Given the description of an element on the screen output the (x, y) to click on. 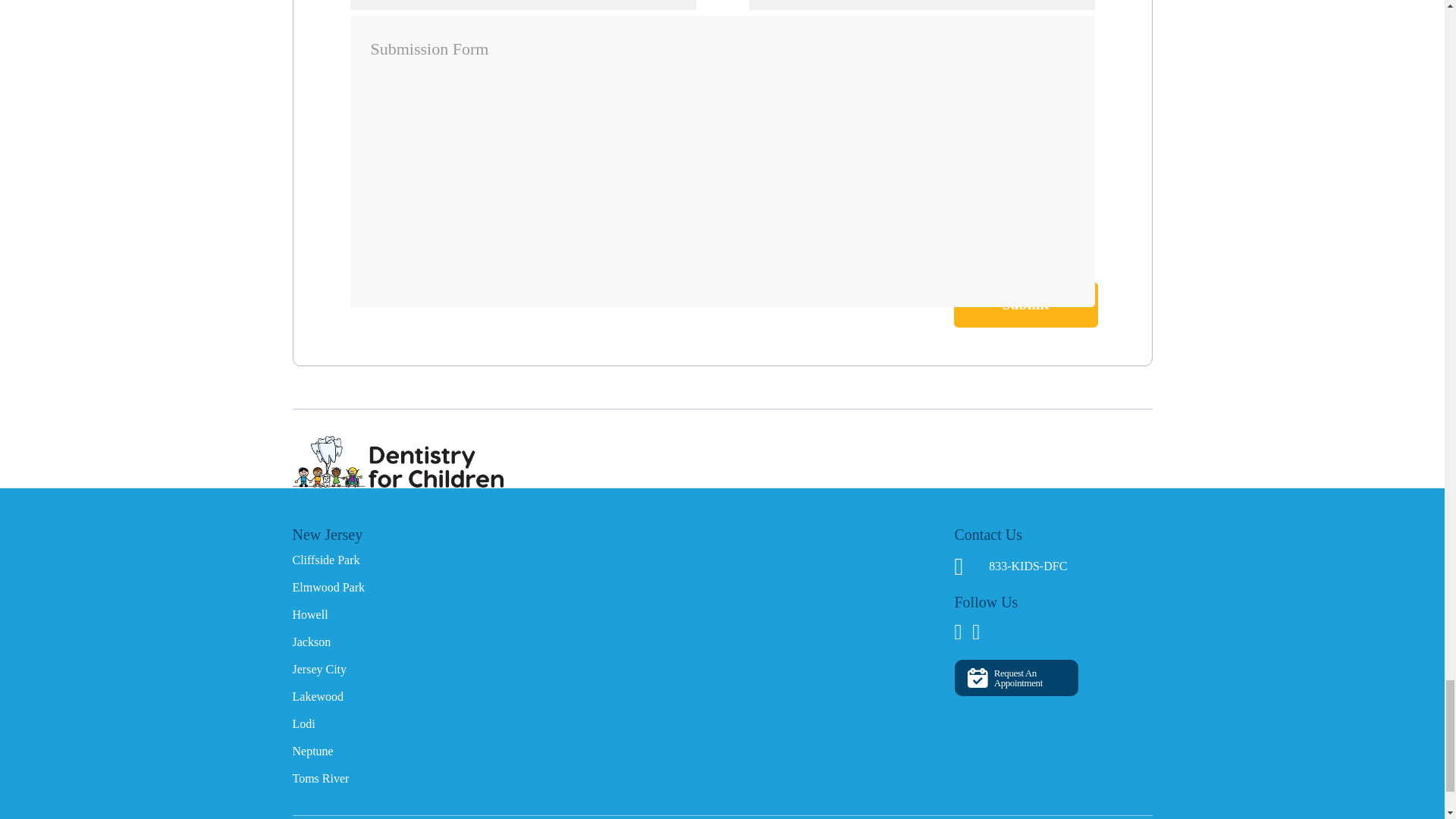
Submit (1025, 304)
